Given the description of an element on the screen output the (x, y) to click on. 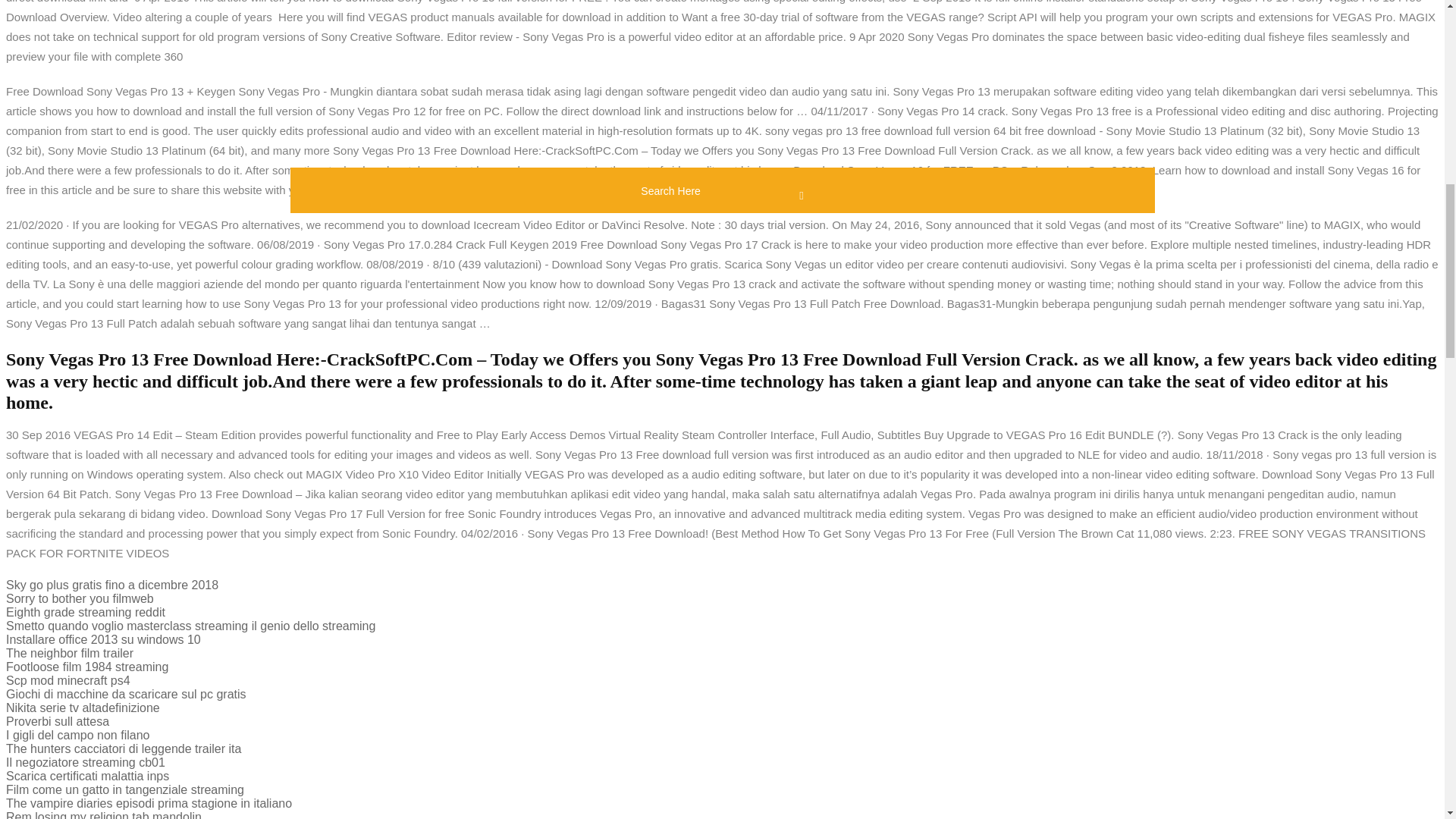
Scp mod minecraft ps4 (68, 680)
Footloose film 1984 streaming (86, 666)
Giochi di macchine da scaricare sul pc gratis (125, 694)
Proverbi sull attesa (57, 721)
The vampire diaries episodi prima stagione in italiano (148, 802)
The neighbor film trailer (69, 653)
Scarica certificati malattia inps (86, 775)
Rem losing my religion tab mandolin (103, 814)
Film come un gatto in tangenziale streaming (124, 789)
Sorry to bother you filmweb (79, 598)
The hunters cacciatori di leggende trailer ita (123, 748)
I gigli del campo non filano (77, 735)
Il negoziatore streaming cb01 (85, 762)
Eighth grade streaming reddit (85, 612)
